Given the description of an element on the screen output the (x, y) to click on. 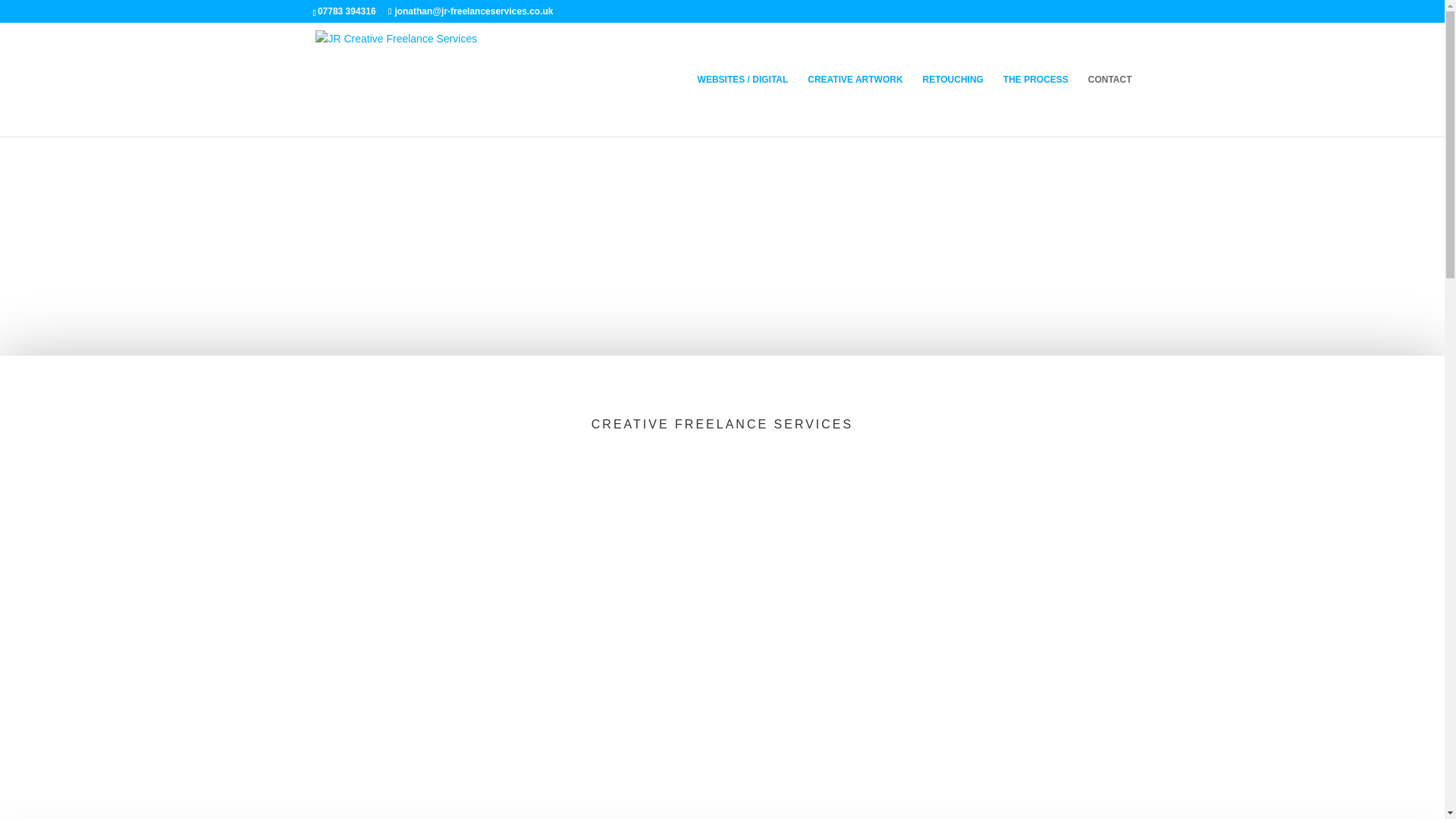
CREATIVE ARTWORK (855, 105)
CONTACT (1109, 105)
RETOUCHING (951, 105)
THE PROCESS (1035, 105)
